Given the description of an element on the screen output the (x, y) to click on. 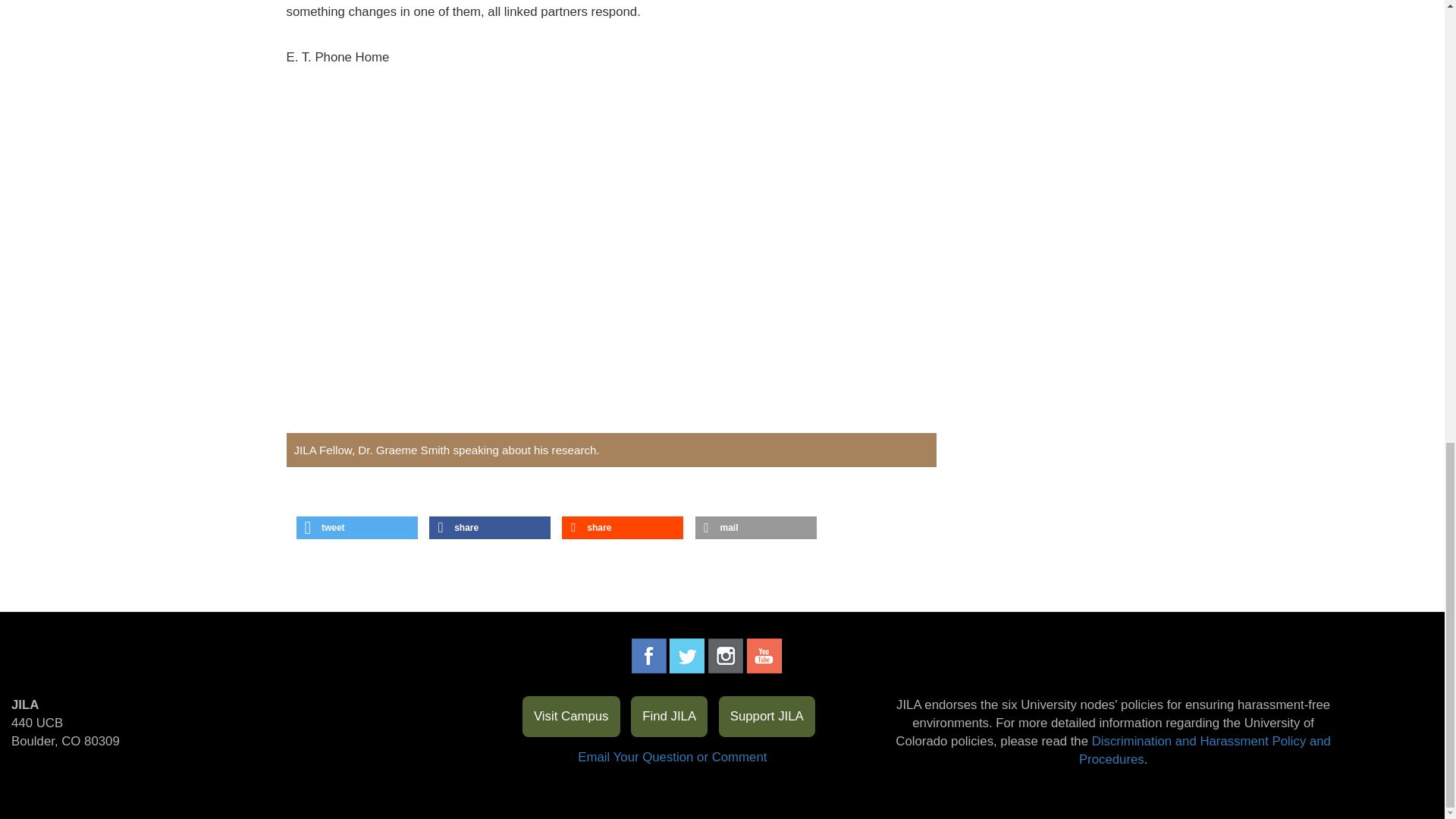
Share on Twitter (357, 527)
Share on Reddit (622, 527)
Send by email (754, 527)
Share on Facebook (489, 527)
